Given the description of an element on the screen output the (x, y) to click on. 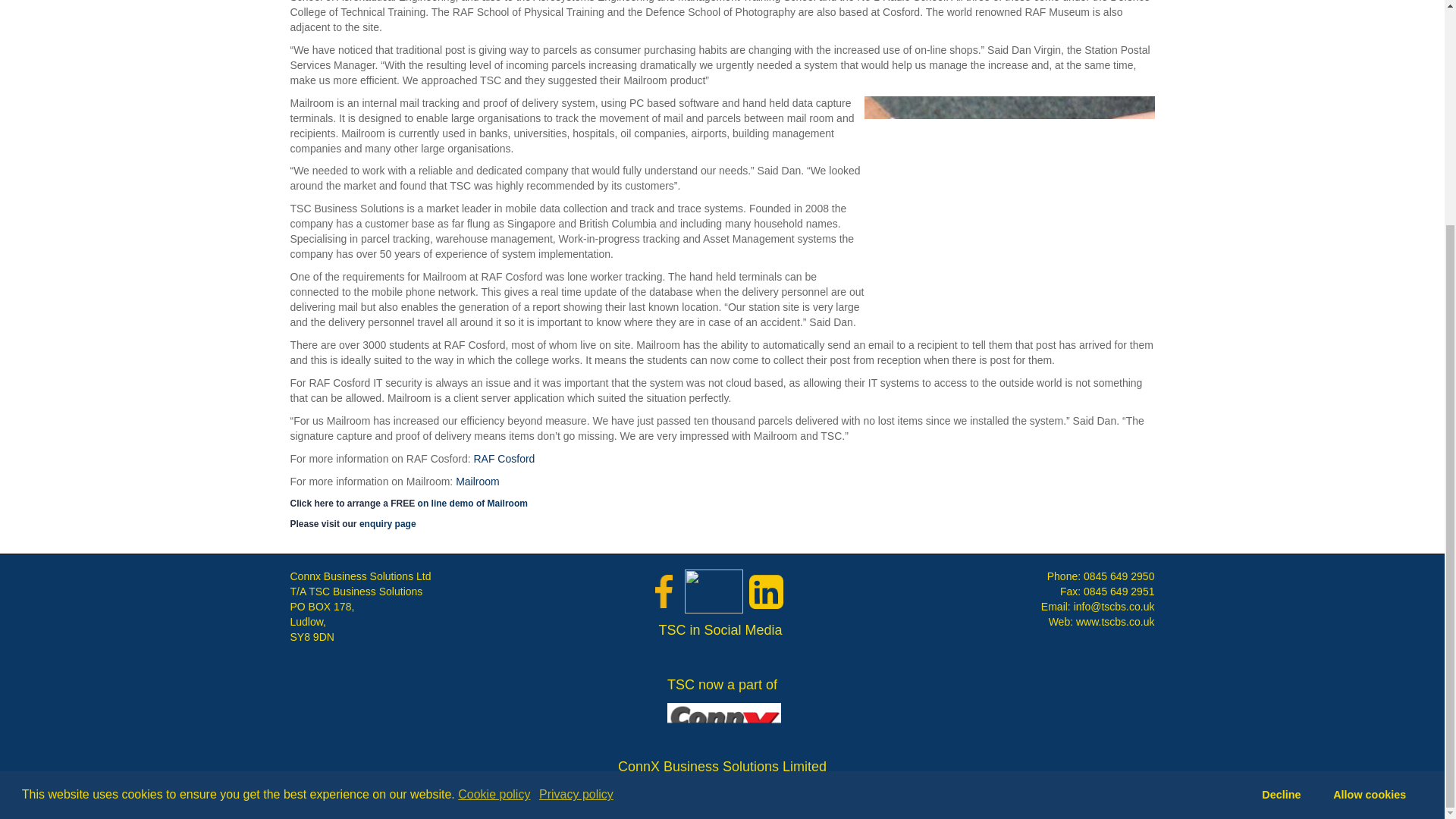
Cookie policy (495, 493)
ConnX Logo (723, 726)
RAF Cosford  (505, 458)
Privacy policy (576, 493)
Allow cookies (1369, 493)
Decline (1281, 493)
